Given the description of an element on the screen output the (x, y) to click on. 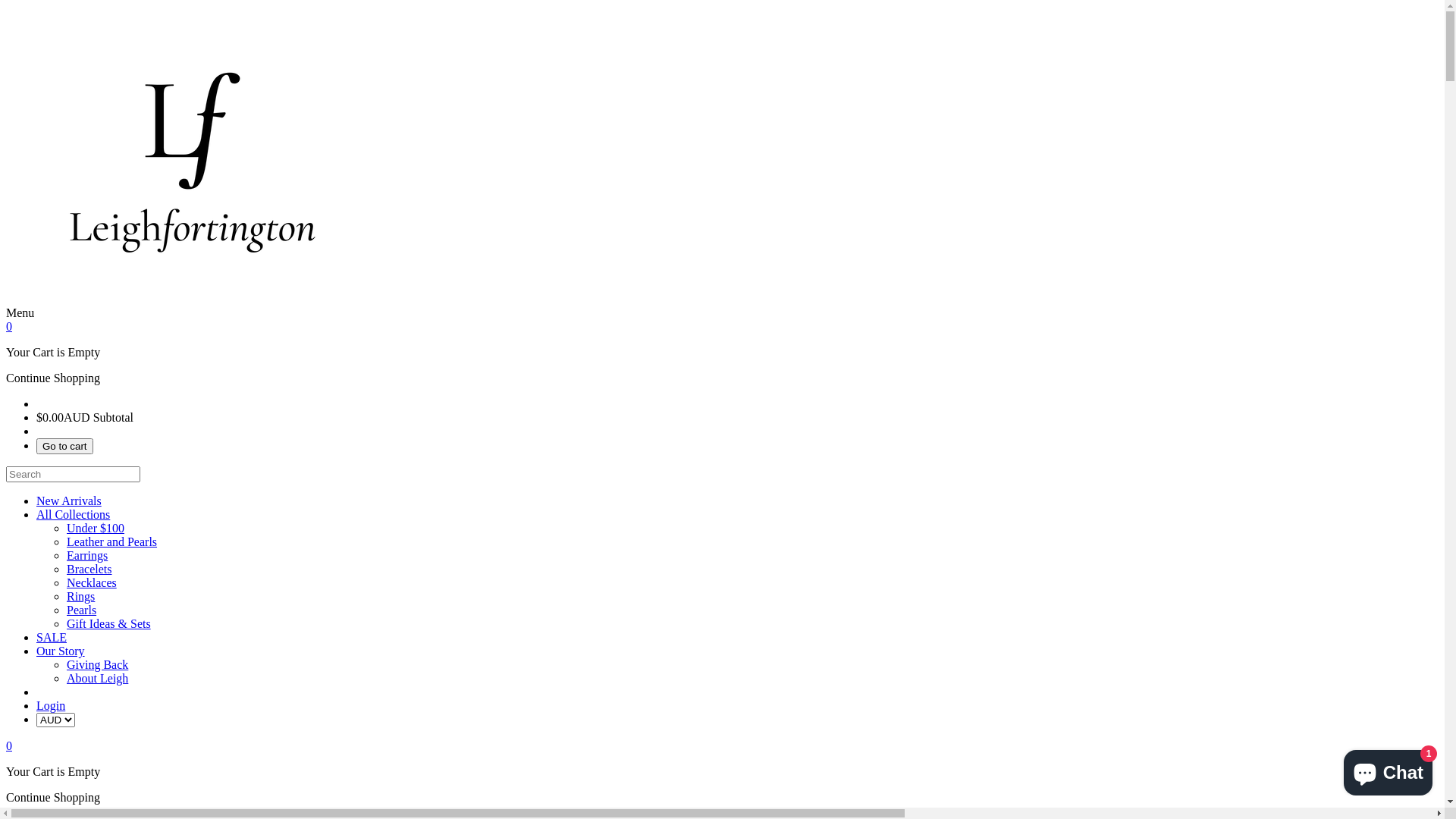
Giving Back Element type: text (97, 664)
Continue Shopping Element type: text (53, 796)
0 Element type: text (9, 326)
Go to cart Element type: text (64, 446)
Continue Shopping Element type: text (53, 377)
Rings Element type: text (80, 595)
Our Story Element type: text (60, 650)
LeighFortington Element type: hover (192, 312)
SALE Element type: text (51, 636)
Leather and Pearls Element type: text (111, 541)
Login Element type: text (50, 705)
New Arrivals Element type: text (68, 500)
All Collections Element type: text (72, 514)
Under $100 Element type: text (95, 527)
Earrings Element type: text (86, 555)
Pearls Element type: text (81, 609)
Bracelets Element type: text (89, 568)
Necklaces Element type: text (91, 582)
0 Element type: text (9, 745)
Gift Ideas & Sets Element type: text (108, 623)
Shopify online store chat Element type: hover (1388, 769)
About Leigh Element type: text (97, 677)
Menu Element type: text (722, 462)
